Given the description of an element on the screen output the (x, y) to click on. 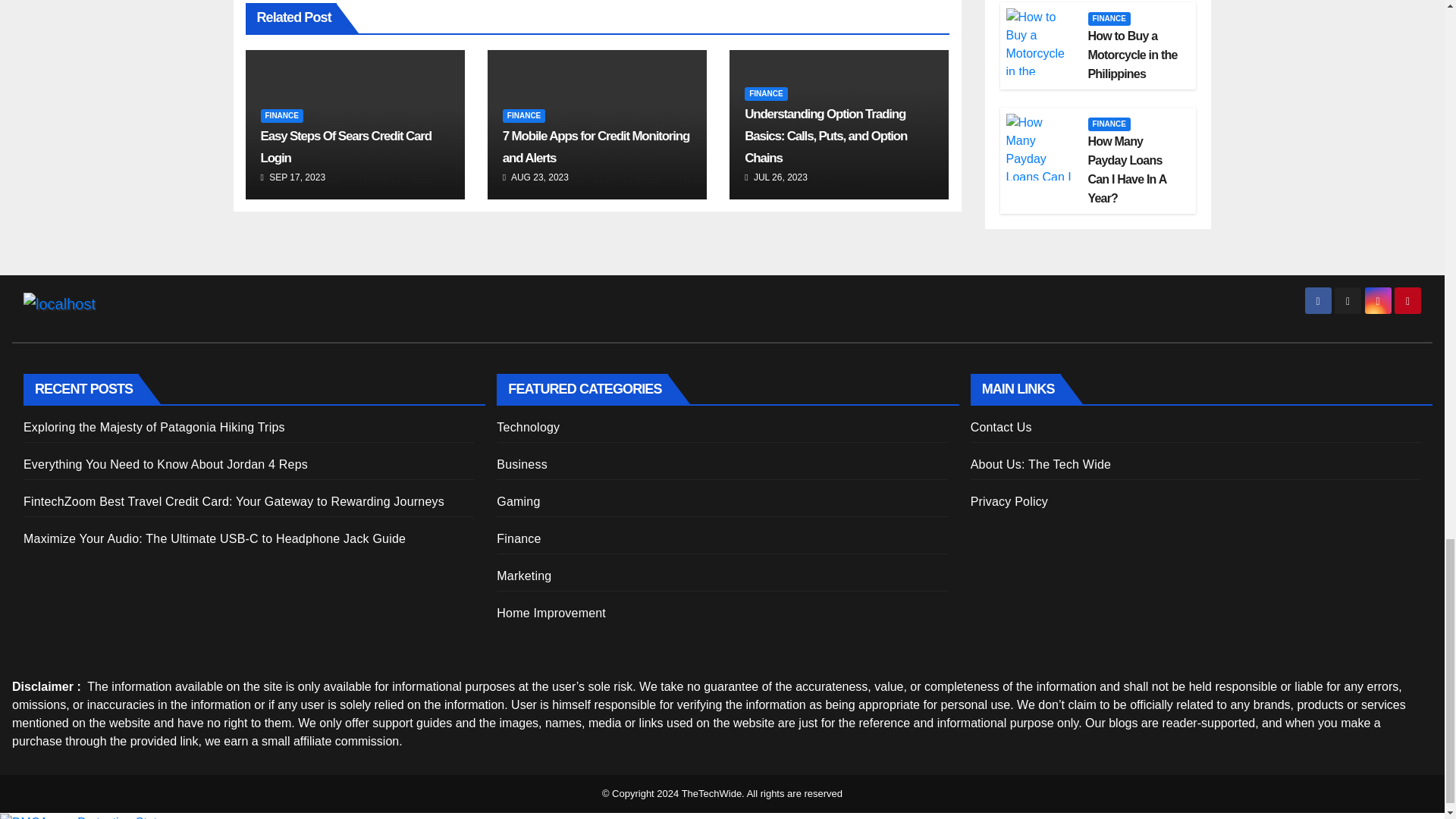
FINANCE (523, 115)
Permalink to: Easy Steps Of Sears Credit Card Login (345, 146)
Permalink to: 7 Mobile Apps for Credit Monitoring and Alerts (595, 146)
Easy Steps Of Sears Credit Card Login (345, 146)
FINANCE (281, 115)
7 Mobile Apps for Credit Monitoring and Alerts (595, 146)
FINANCE (765, 93)
DMCA.com Protection Status (85, 816)
